Given the description of an element on the screen output the (x, y) to click on. 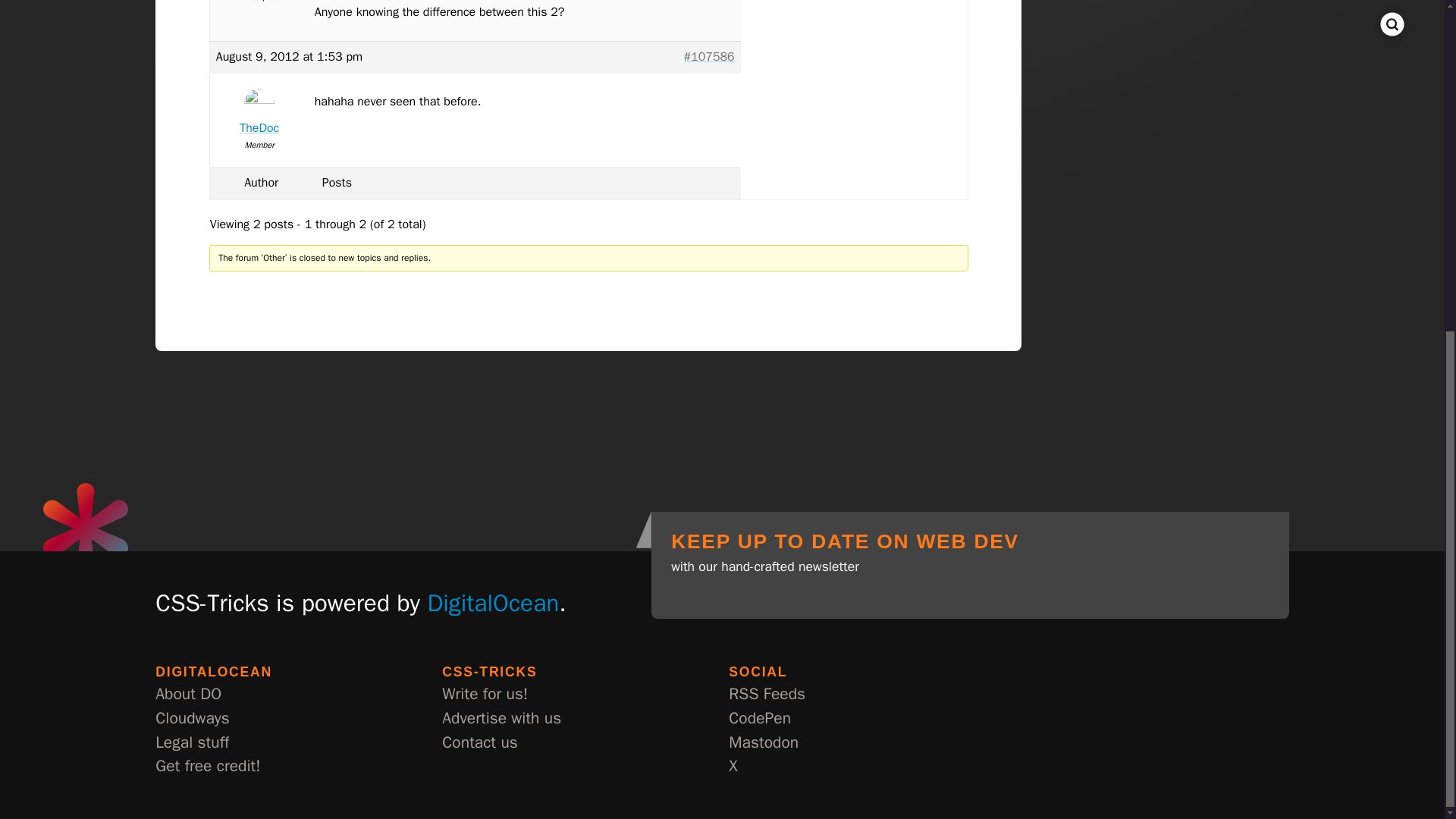
TheDoc (258, 115)
Contact us (480, 743)
Cloudways (191, 718)
Get free credit! (207, 766)
Mastodon (763, 743)
Write for us! (484, 694)
DigitalOcean (492, 603)
Legal stuff (191, 743)
About DO (188, 694)
Advertise with us (501, 718)
